Given the description of an element on the screen output the (x, y) to click on. 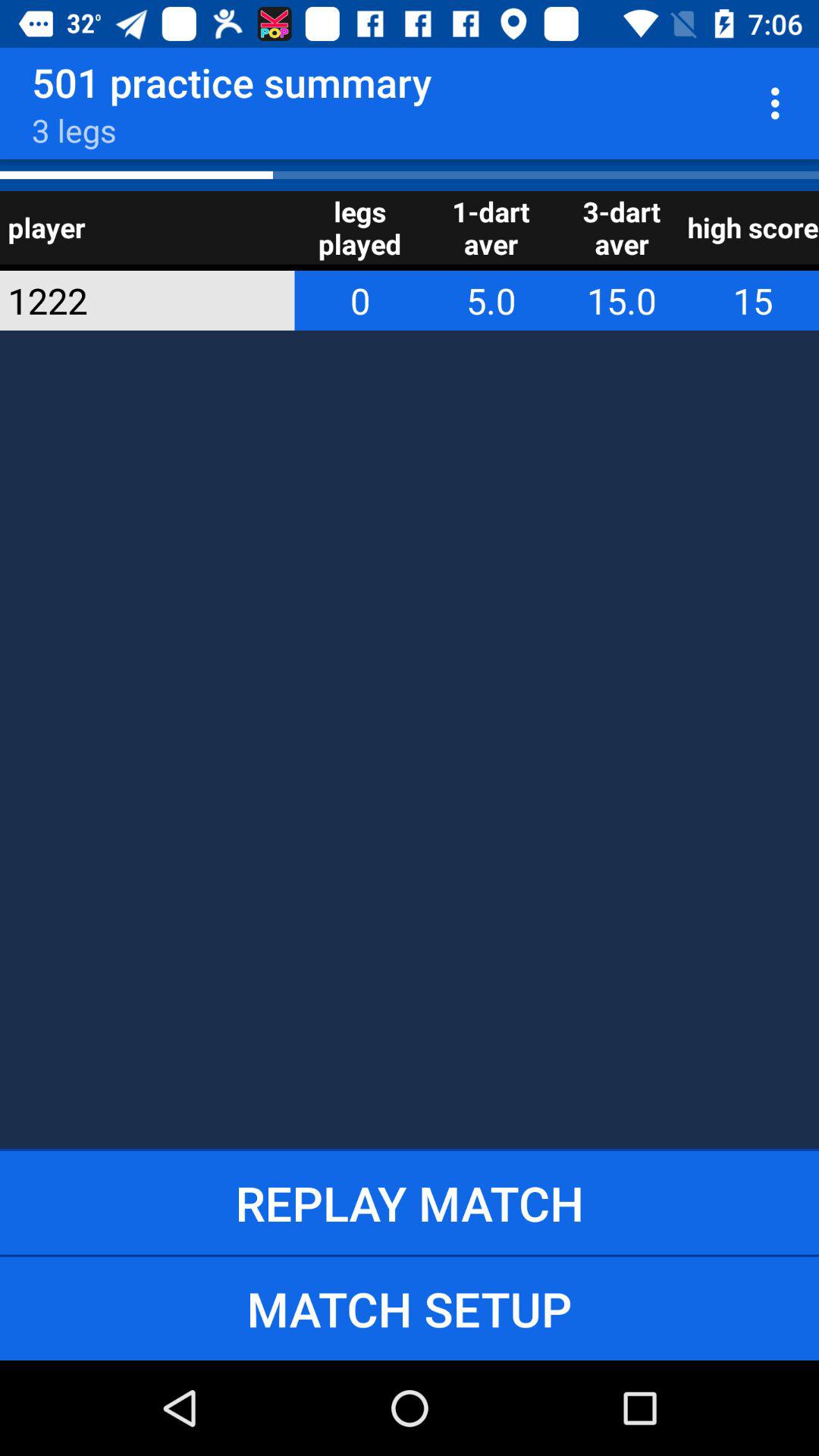
launch the item next to 501 practice summary (779, 103)
